Given the description of an element on the screen output the (x, y) to click on. 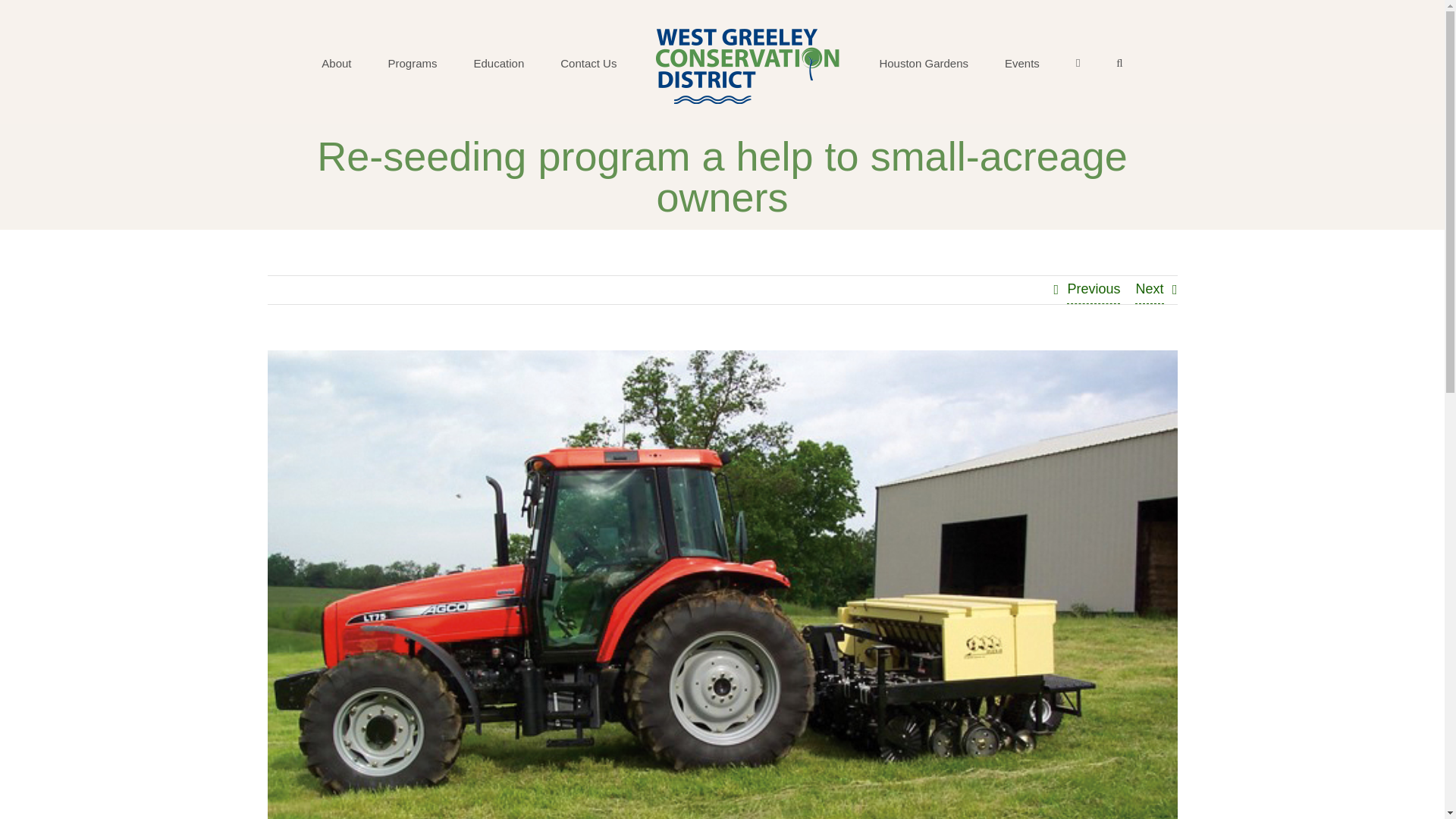
Next (1149, 289)
Previous (1093, 289)
Houston Gardens (923, 62)
